Given the description of an element on the screen output the (x, y) to click on. 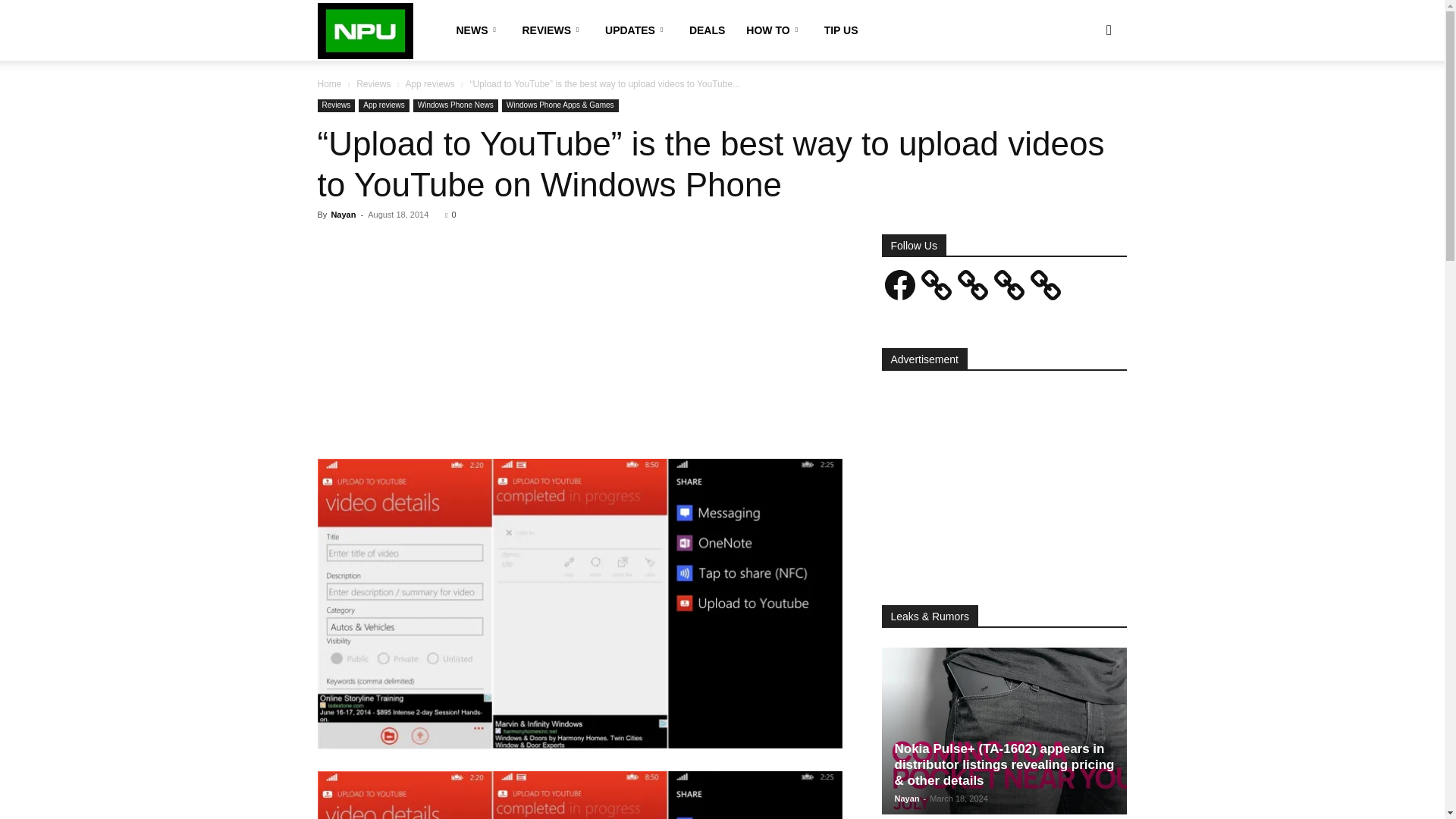
Nokiapoweruser logo (365, 30)
UPDATES (636, 30)
Nokiapoweruser (365, 30)
HOW TO (773, 30)
DEALS (706, 30)
Advertisement (580, 346)
View all posts in Reviews (373, 83)
Search (1085, 102)
REVIEWS (552, 30)
View all posts in App reviews (429, 83)
NEWS (478, 30)
